Given the description of an element on the screen output the (x, y) to click on. 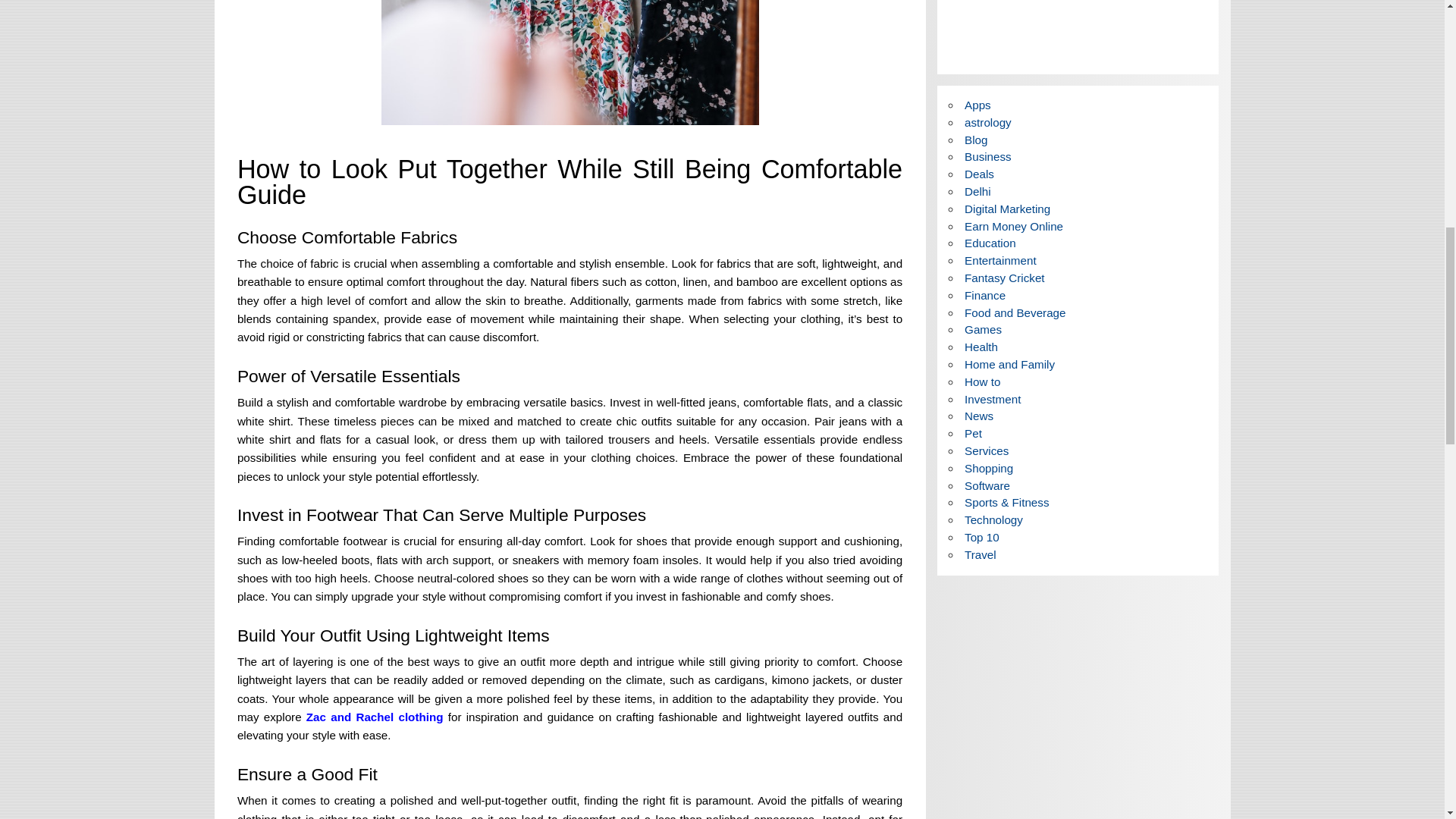
Advertisement (1078, 31)
